Given the description of an element on the screen output the (x, y) to click on. 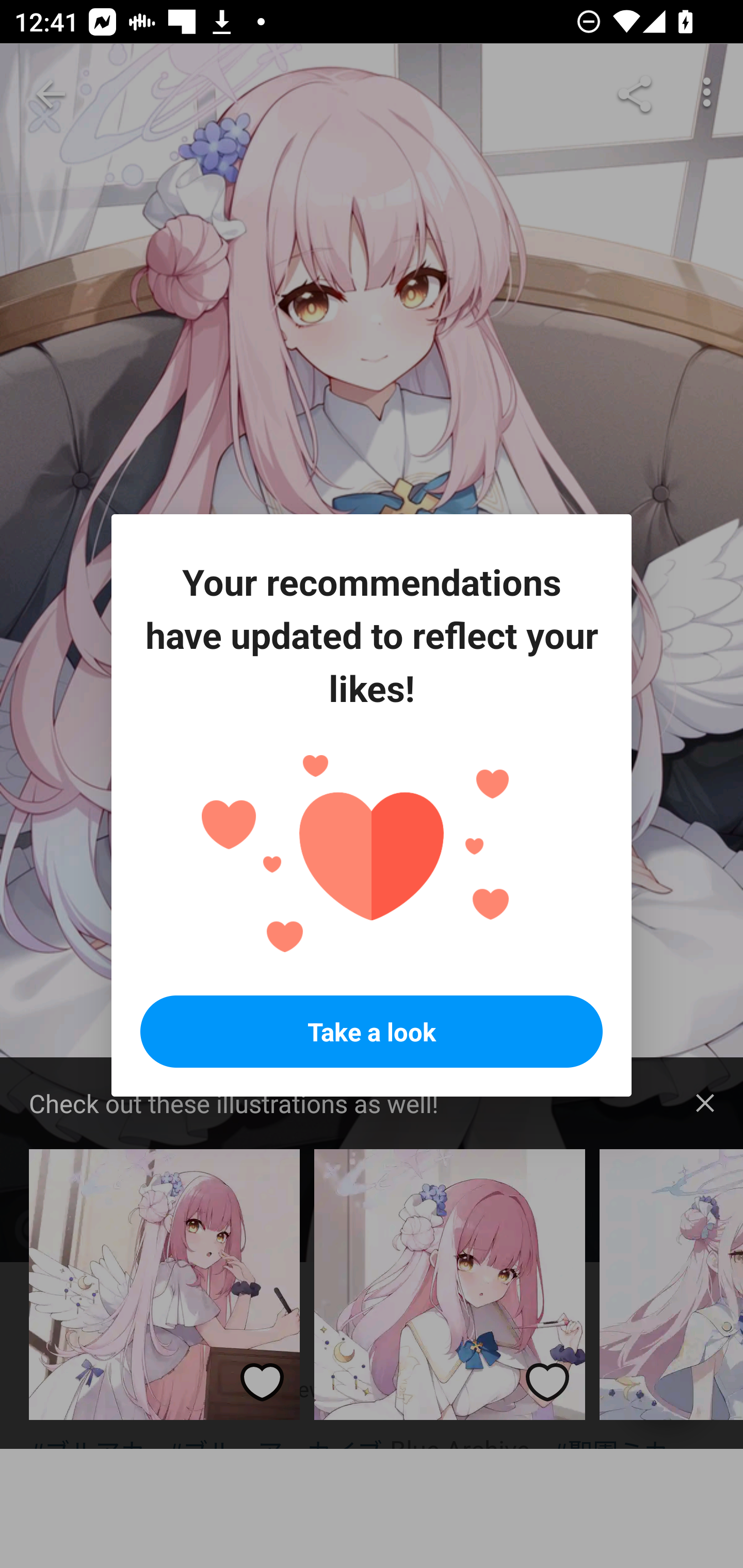
Take a look (371, 1031)
